Given the description of an element on the screen output the (x, y) to click on. 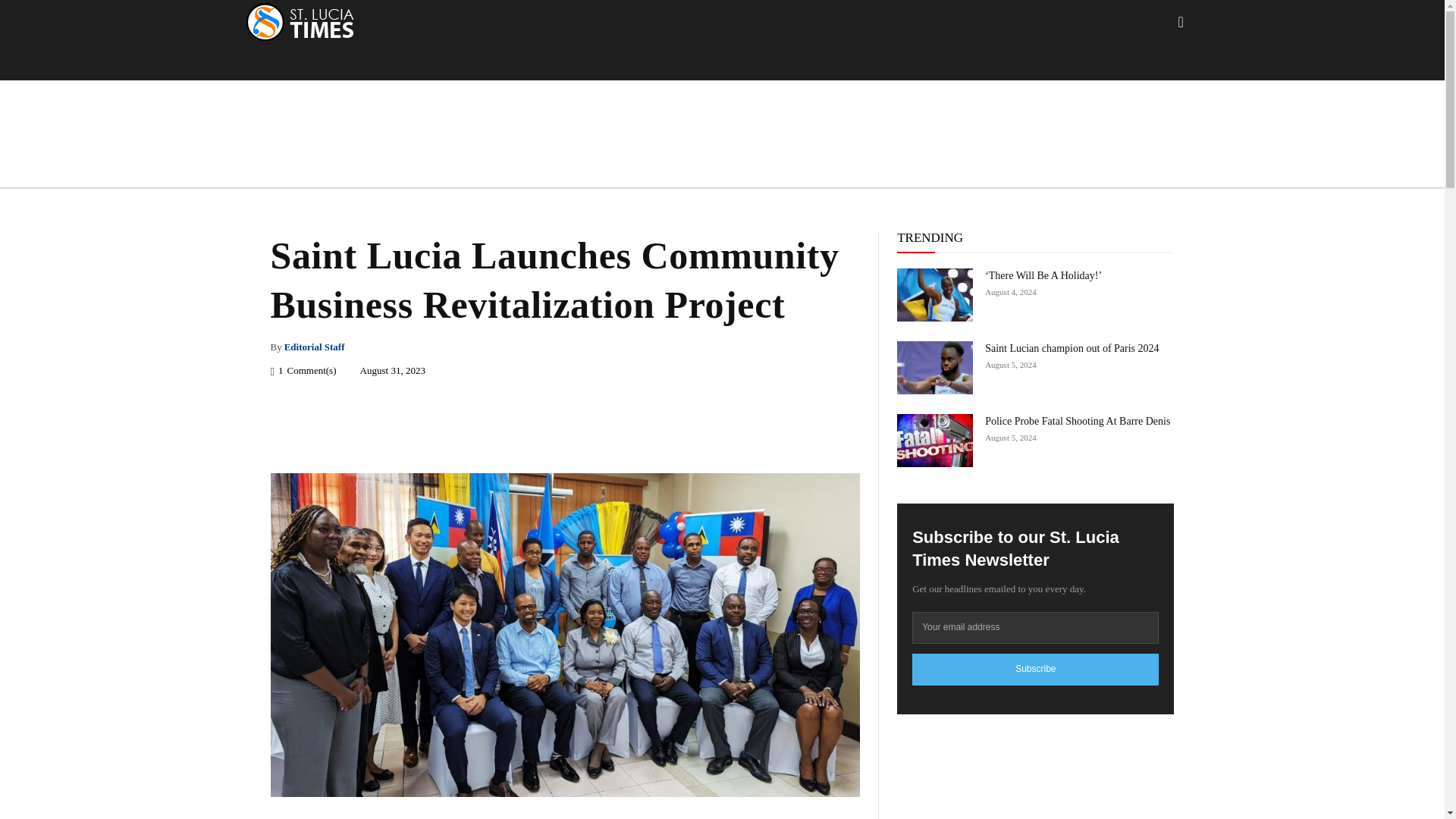
Saint Lucian champion out of Paris 2024 (934, 367)
